Given the description of an element on the screen output the (x, y) to click on. 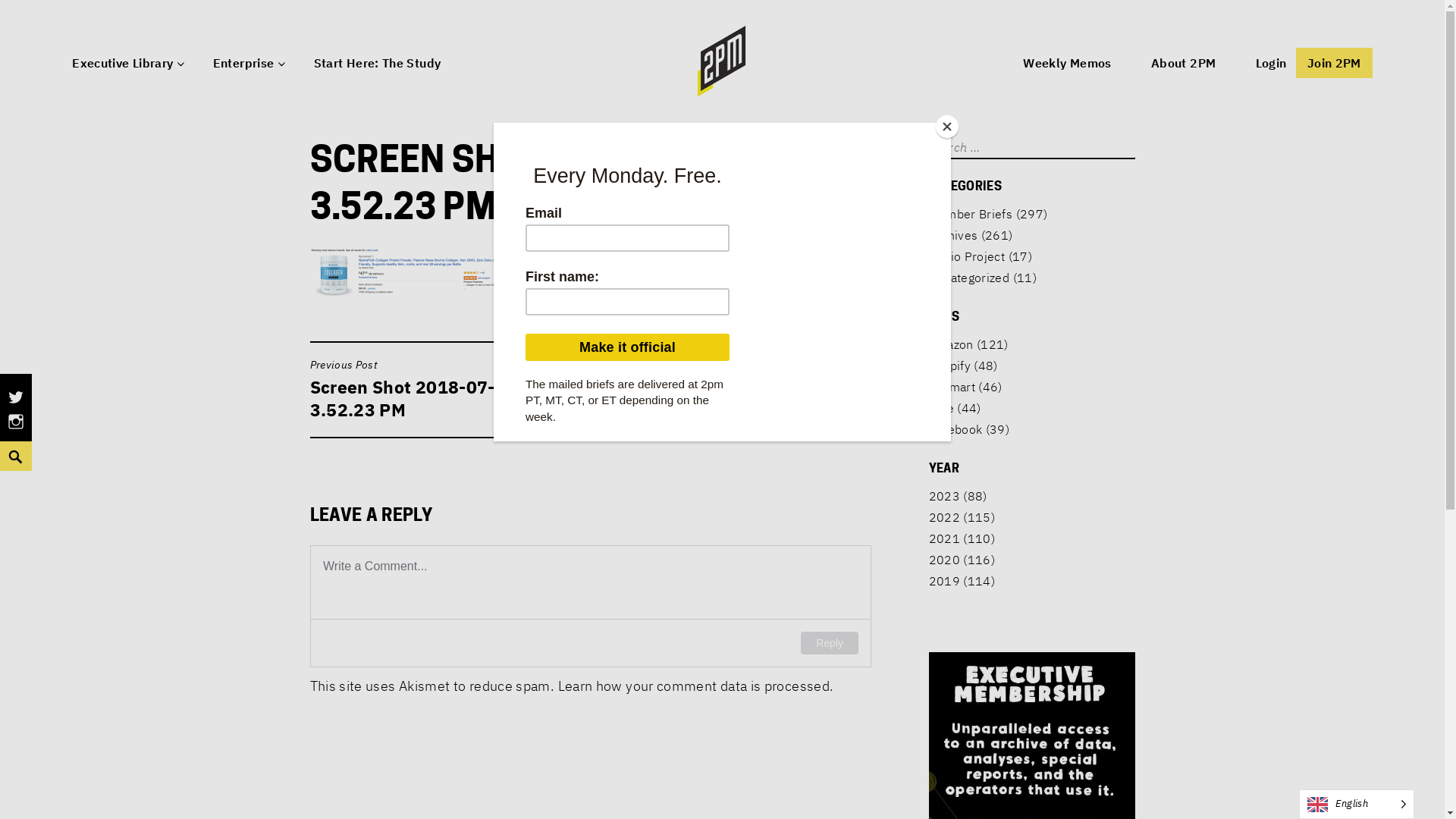
2019 (114) Element type: text (961, 580)
Instagram Element type: text (15, 429)
Facebook (39) Element type: text (968, 428)
Shopify (48) Element type: text (962, 365)
2020 (116) Element type: text (961, 559)
Twitter Element type: text (15, 404)
Uncategorized (11) Element type: text (981, 277)
Audio Project (17) Element type: text (979, 255)
Learn how your comment data is processed Element type: text (693, 685)
Amazon (121) Element type: text (967, 343)
About 2PM Element type: text (1183, 63)
Nike (44) Element type: text (954, 407)
Comment Form Element type: hover (589, 606)
Join 2PM Element type: text (1333, 62)
Start Here: The Study Element type: text (377, 63)
Previous Post
Screen Shot 2018-07-29 at 3.52.23 PM Element type: text (445, 388)
2021 (110) Element type: text (961, 538)
Weekly Memos Element type: text (1066, 63)
2022 (115) Element type: text (961, 516)
Login Element type: text (1270, 63)
Archives (261) Element type: text (970, 234)
Member Briefs (297) Element type: text (987, 213)
Enterprise Element type: text (243, 63)
2023 (88) Element type: text (957, 495)
Search Element type: text (3, 440)
Executive Library Element type: text (122, 63)
Search Element type: text (22, 8)
Walmart (46) Element type: text (964, 386)
